Given the description of an element on the screen output the (x, y) to click on. 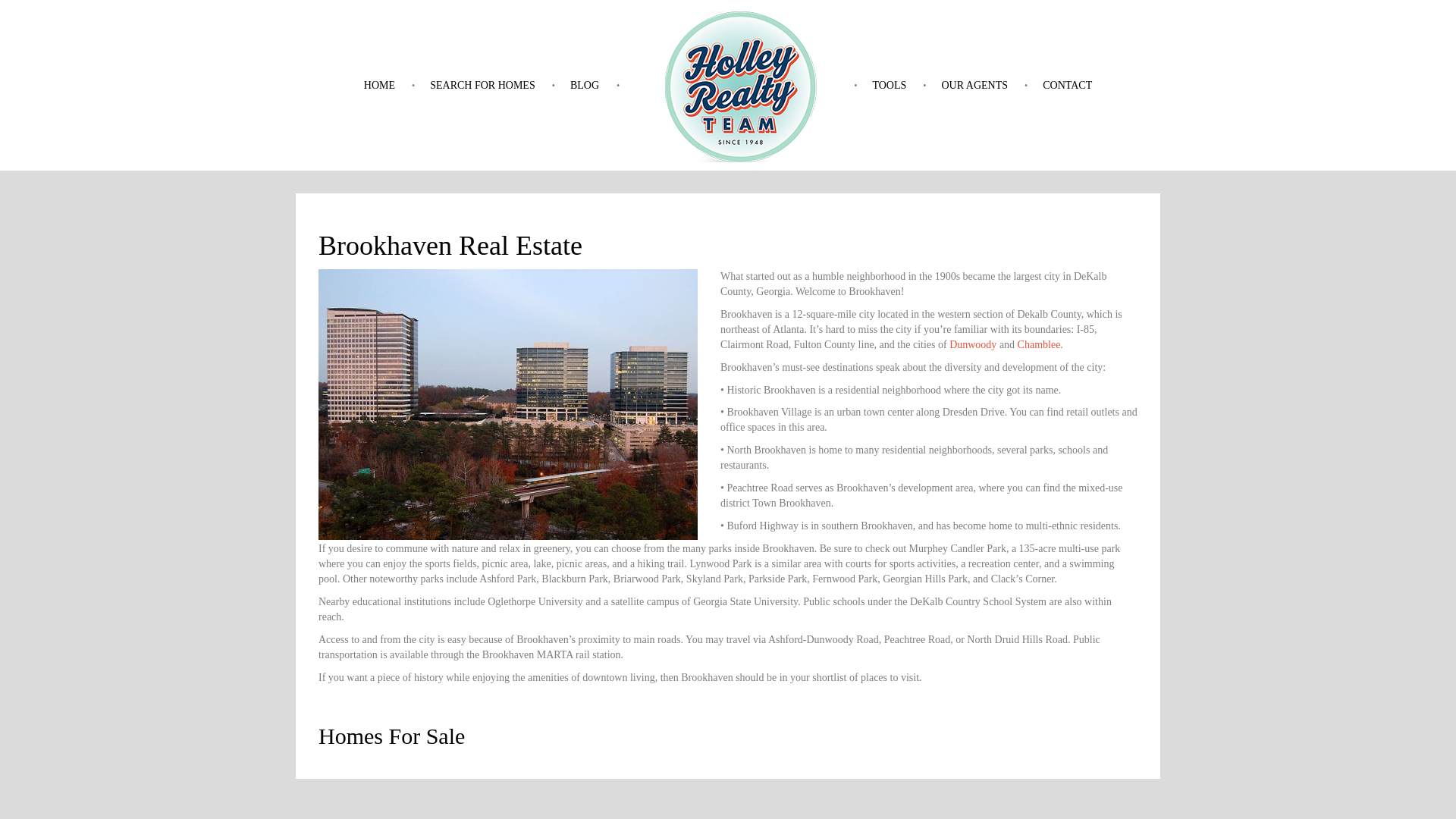
Dunwoody (972, 344)
Dunwoody Real Estate (972, 344)
Chamblee (1039, 344)
Chamblee Real Estate (1039, 344)
